Given the description of an element on the screen output the (x, y) to click on. 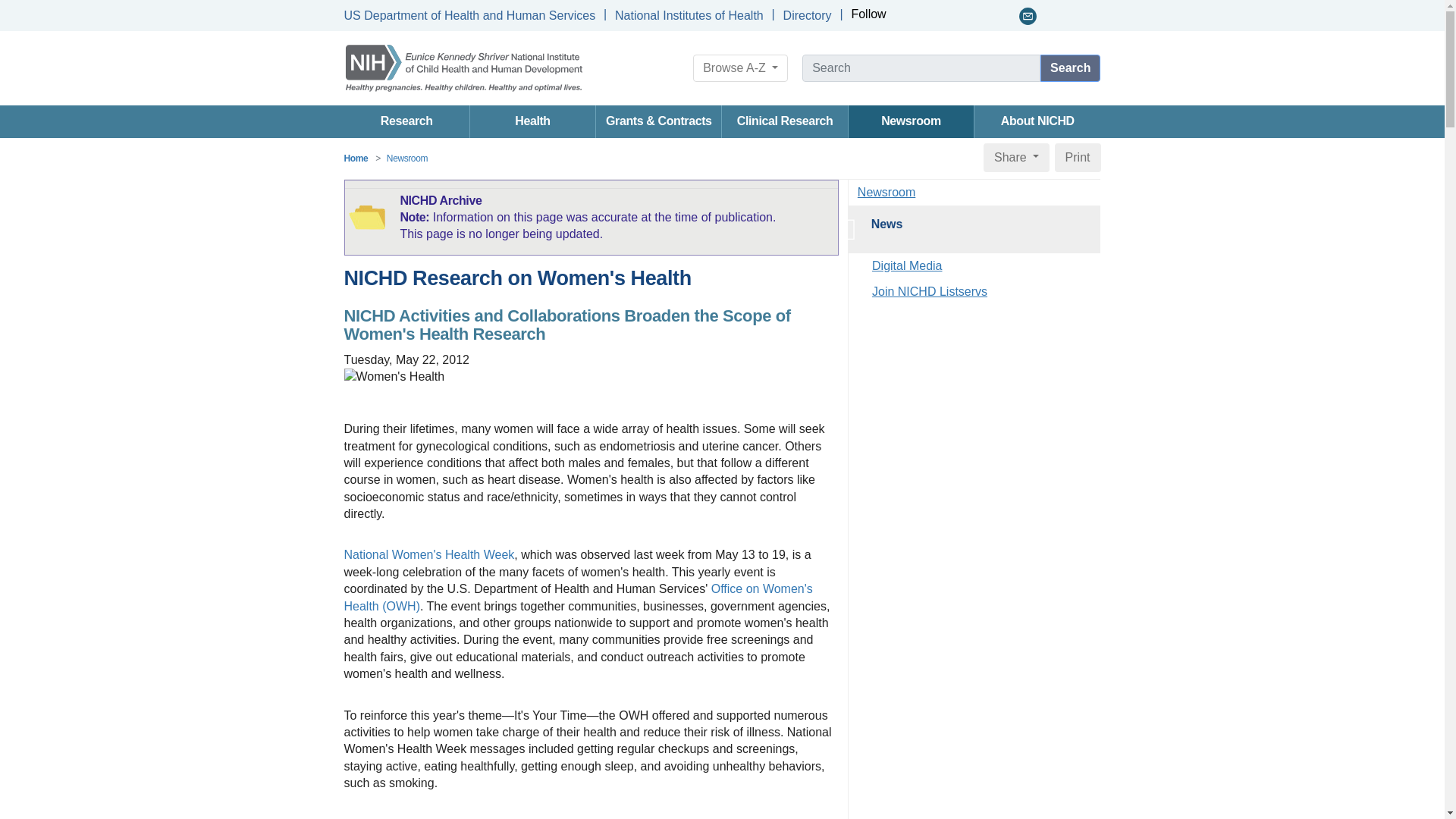
Subscribe (1027, 16)
facebook (903, 16)
follow us on X (924, 16)
US Department of Health and Human Services (469, 15)
US Department of Health and Human Services (469, 15)
Browse A-Z Topics (740, 67)
Email NICHD (1027, 16)
instagram (1007, 16)
National Institutes of Health (688, 15)
follow us on YouTube (965, 16)
National Institutes of Health (688, 15)
follow us on Facebook (903, 16)
X (924, 16)
linkedin (944, 16)
flickr (985, 16)
